Given the description of an element on the screen output the (x, y) to click on. 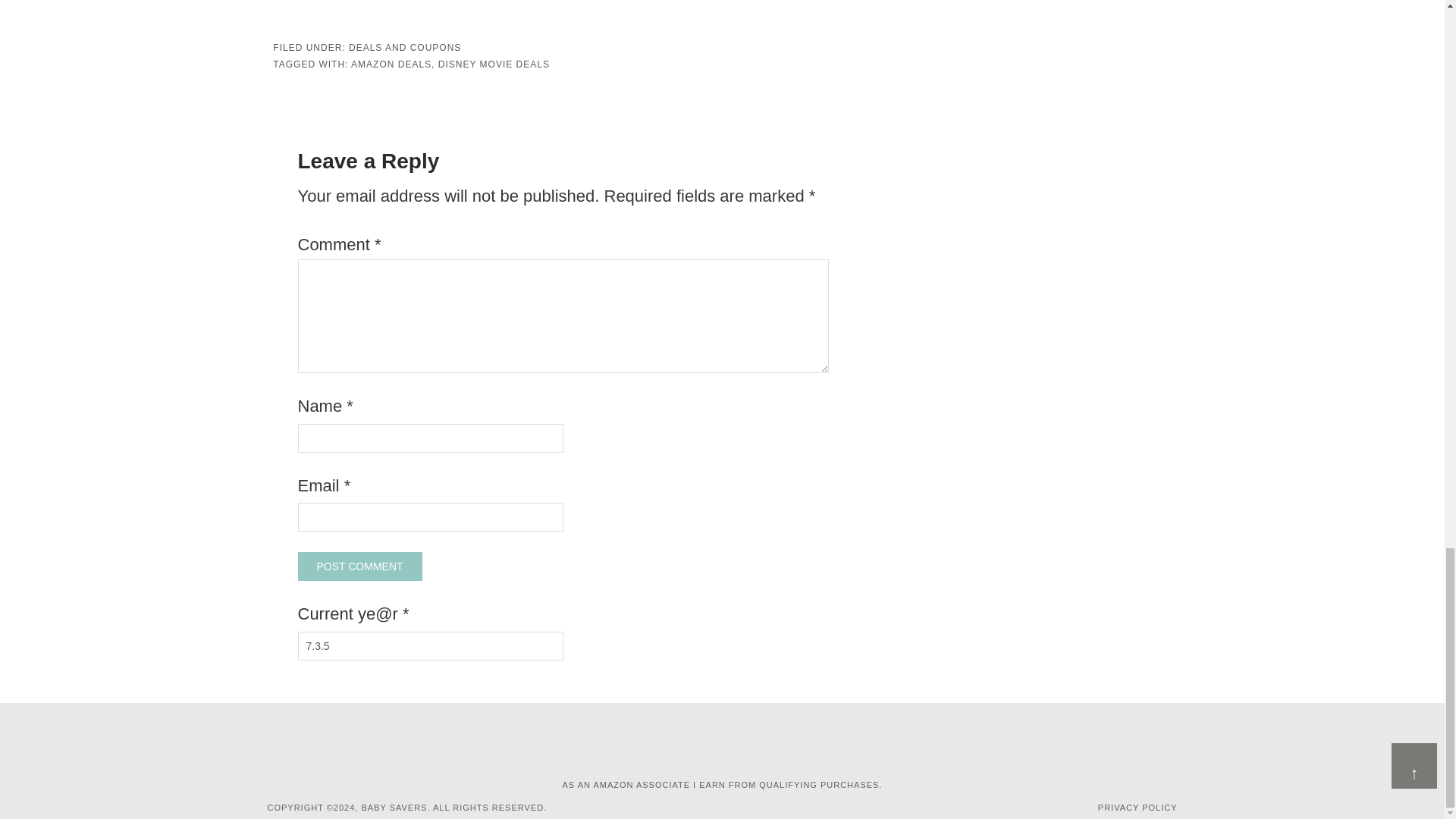
Post Comment (359, 566)
7.3.5 (429, 645)
